Given the description of an element on the screen output the (x, y) to click on. 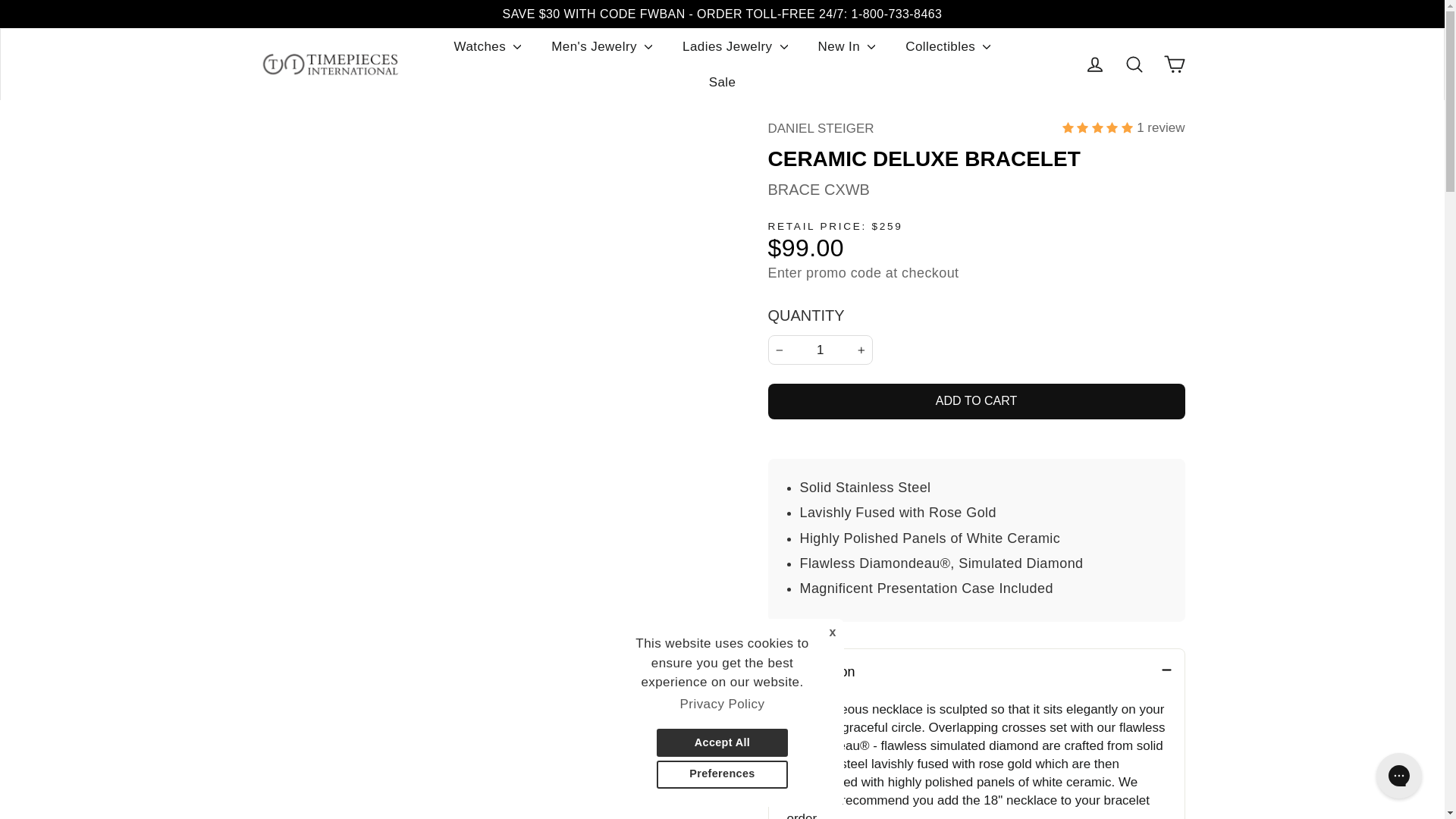
Daniel Steiger (820, 128)
1 (819, 349)
Gorgias live chat messenger (1398, 775)
